Given the description of an element on the screen output the (x, y) to click on. 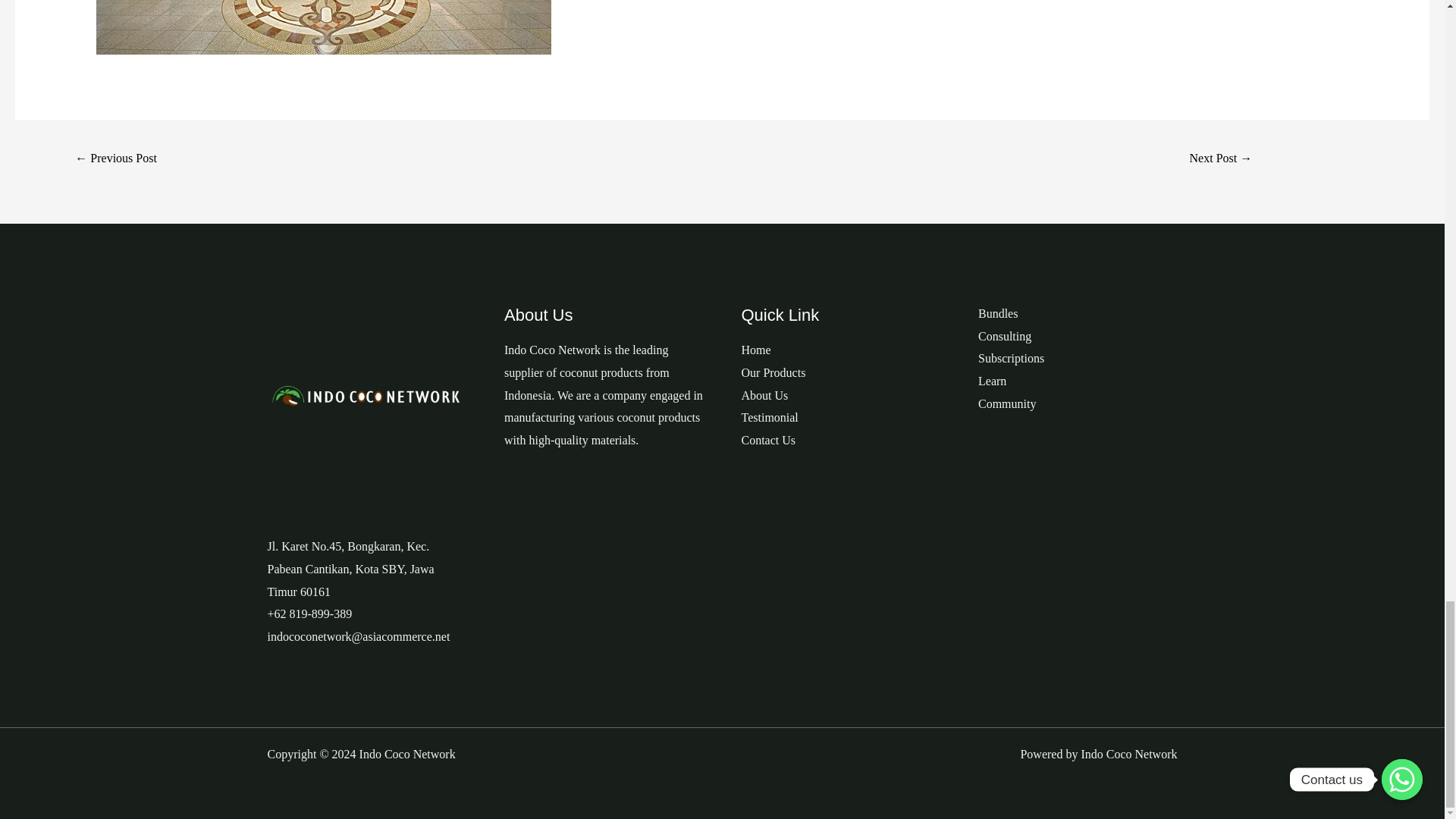
About Us (765, 395)
Learn (992, 380)
Our Products (773, 372)
Contact Us (768, 440)
Testimonial (769, 417)
Community (1006, 403)
Subscriptions (1010, 358)
Vegas Slots Online (1220, 159)
